Given the description of an element on the screen output the (x, y) to click on. 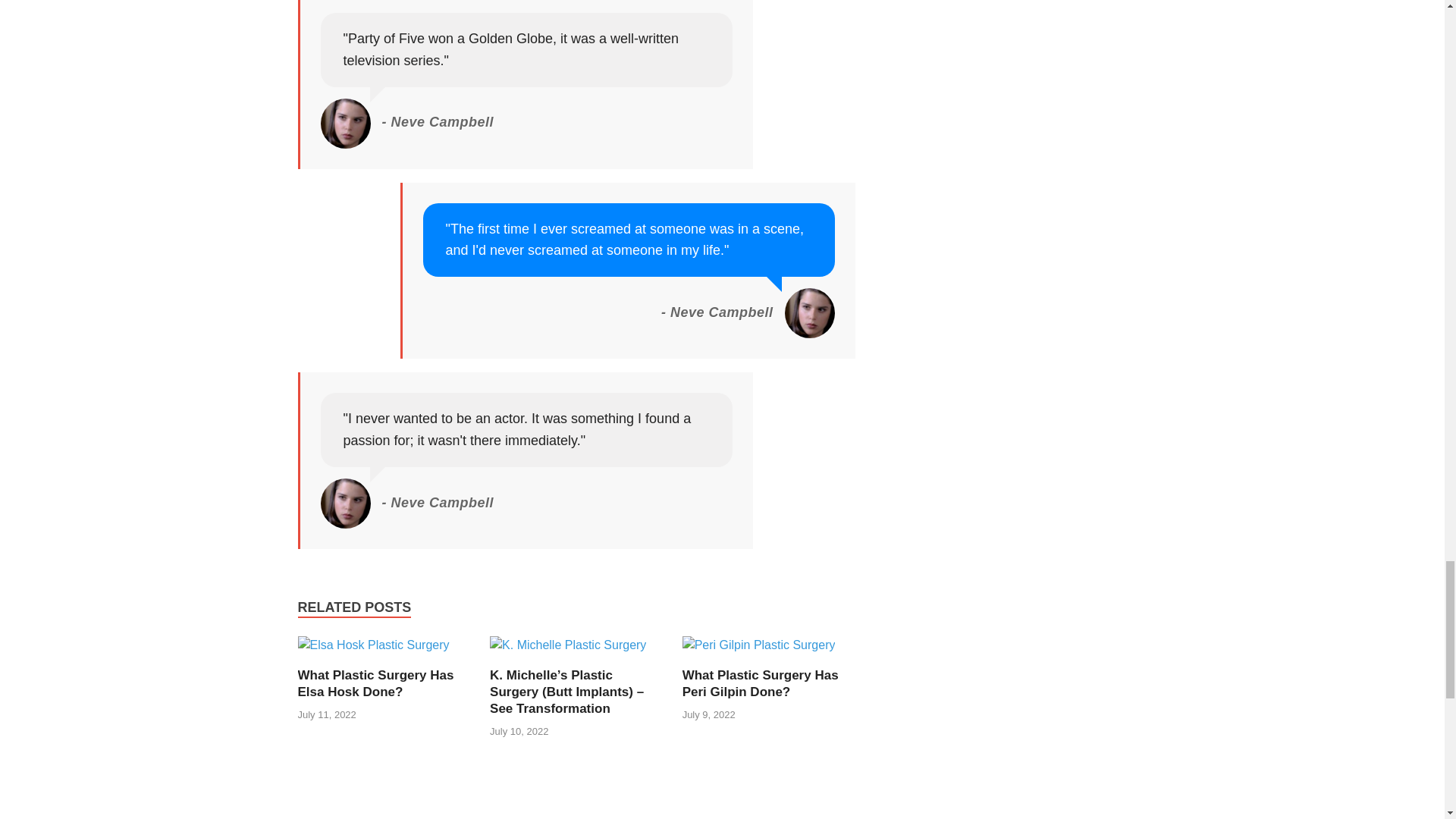
What Plastic Surgery Has Peri Gilpin Done? (758, 650)
What Plastic Surgery Has Elsa Hosk Done? (372, 650)
What Plastic Surgery Has Elsa Hosk Done? (374, 683)
What Plastic Surgery Has Peri Gilpin Done? (760, 683)
